Given the description of an element on the screen output the (x, y) to click on. 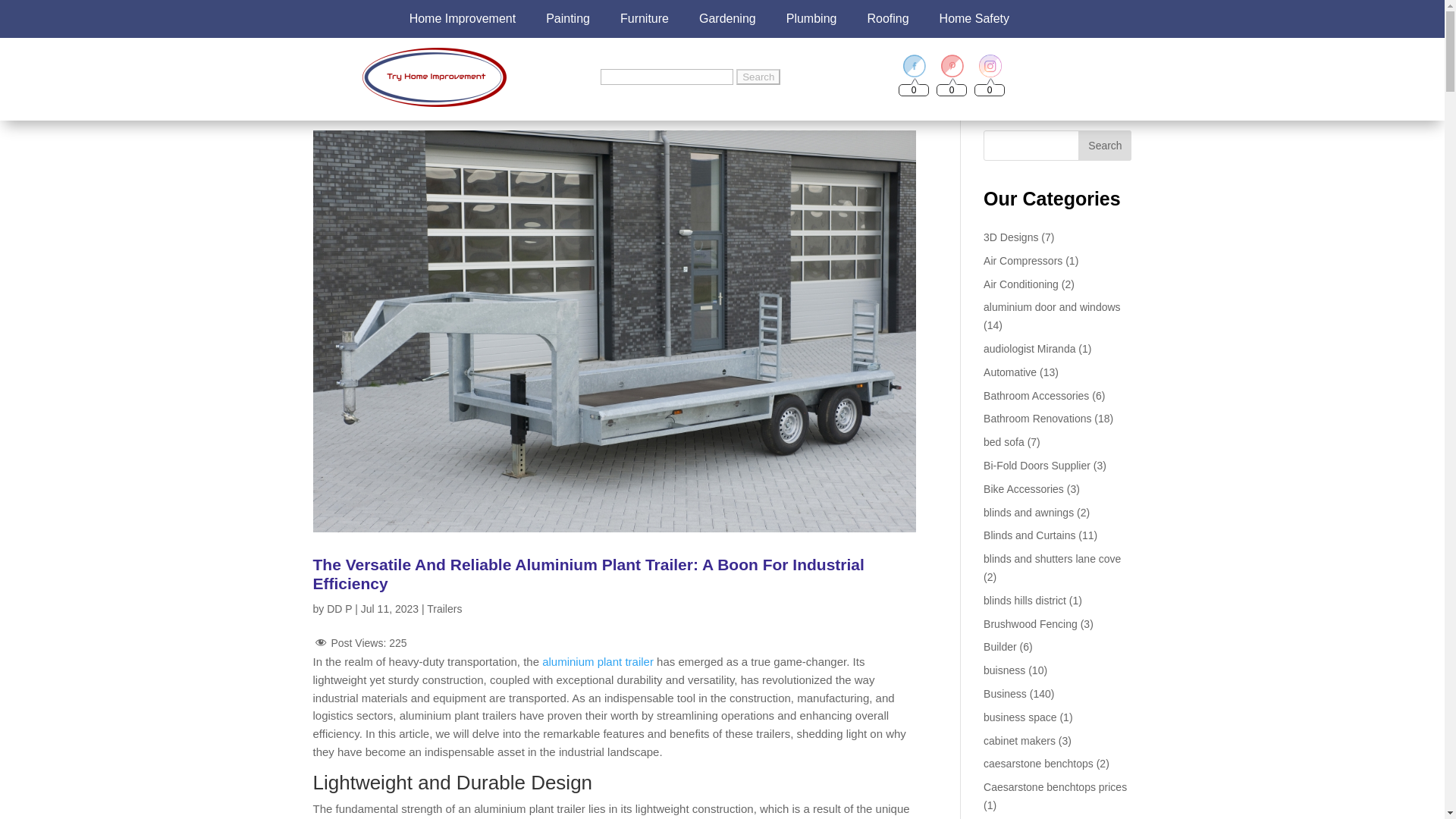
Bathroom Accessories (1036, 395)
Furniture (644, 18)
Automative (1010, 372)
Instagram (989, 65)
bed sofa (1004, 441)
Roofing (887, 18)
Search (758, 76)
Trailers (443, 608)
Home Safety (974, 18)
